Given the description of an element on the screen output the (x, y) to click on. 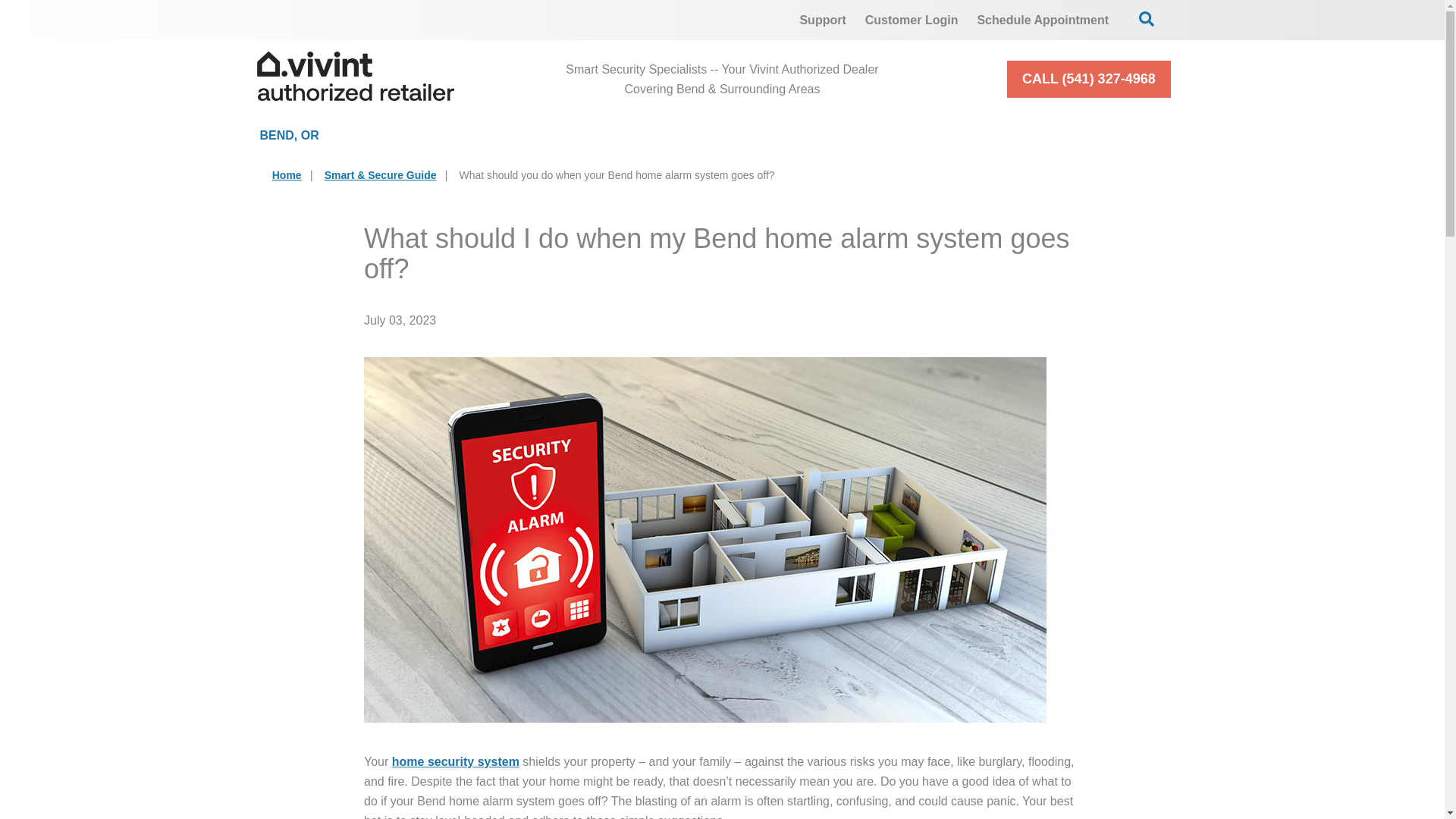
Open Search (1146, 18)
Home (286, 174)
Smart Home Automation (857, 135)
Cameras (648, 135)
Schedule Appointment (1042, 20)
Home Security (467, 135)
Customer Login (911, 20)
home security system (455, 761)
Support (822, 20)
